Given the description of an element on the screen output the (x, y) to click on. 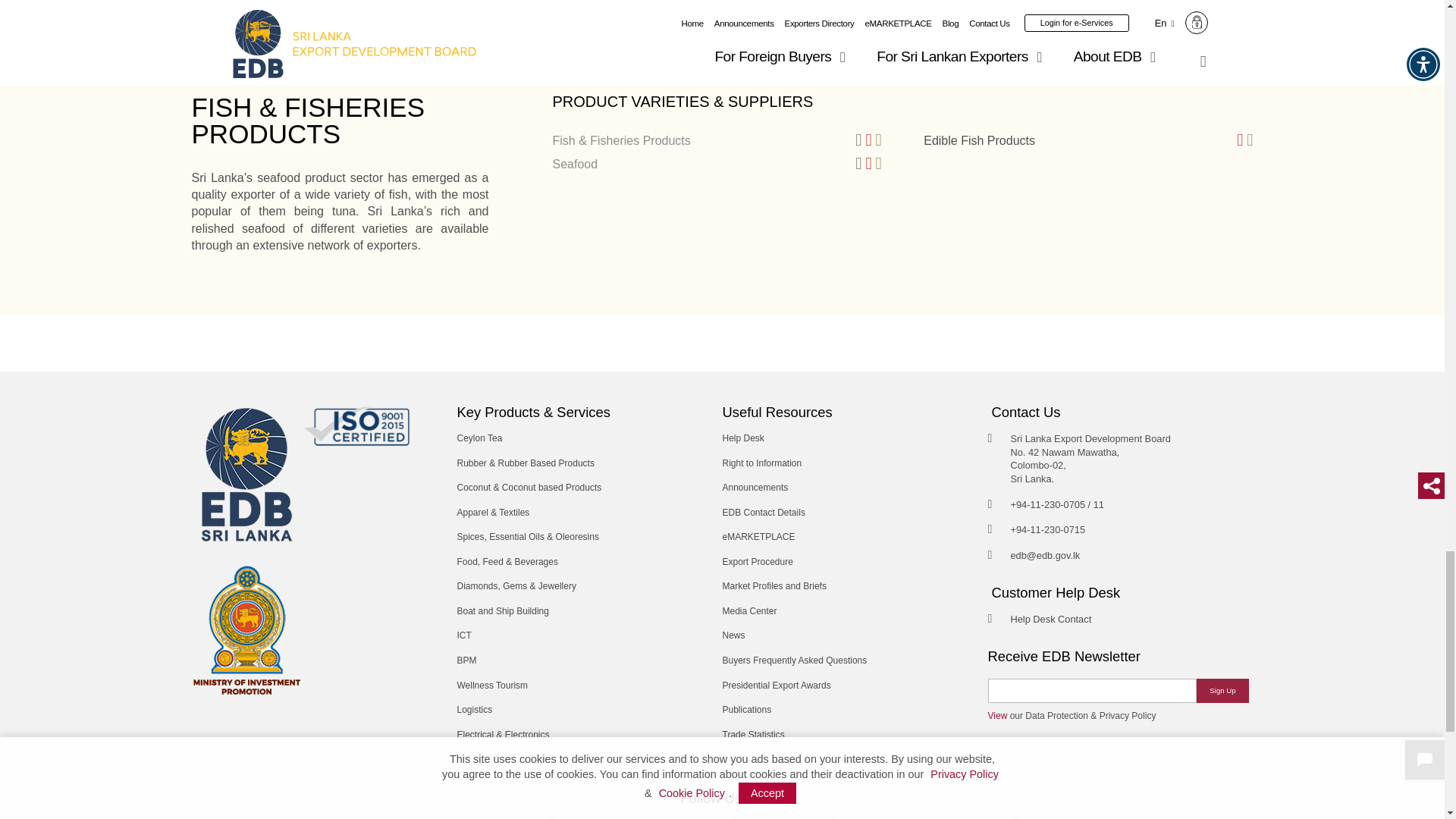
Seafood (573, 164)
